Given the description of an element on the screen output the (x, y) to click on. 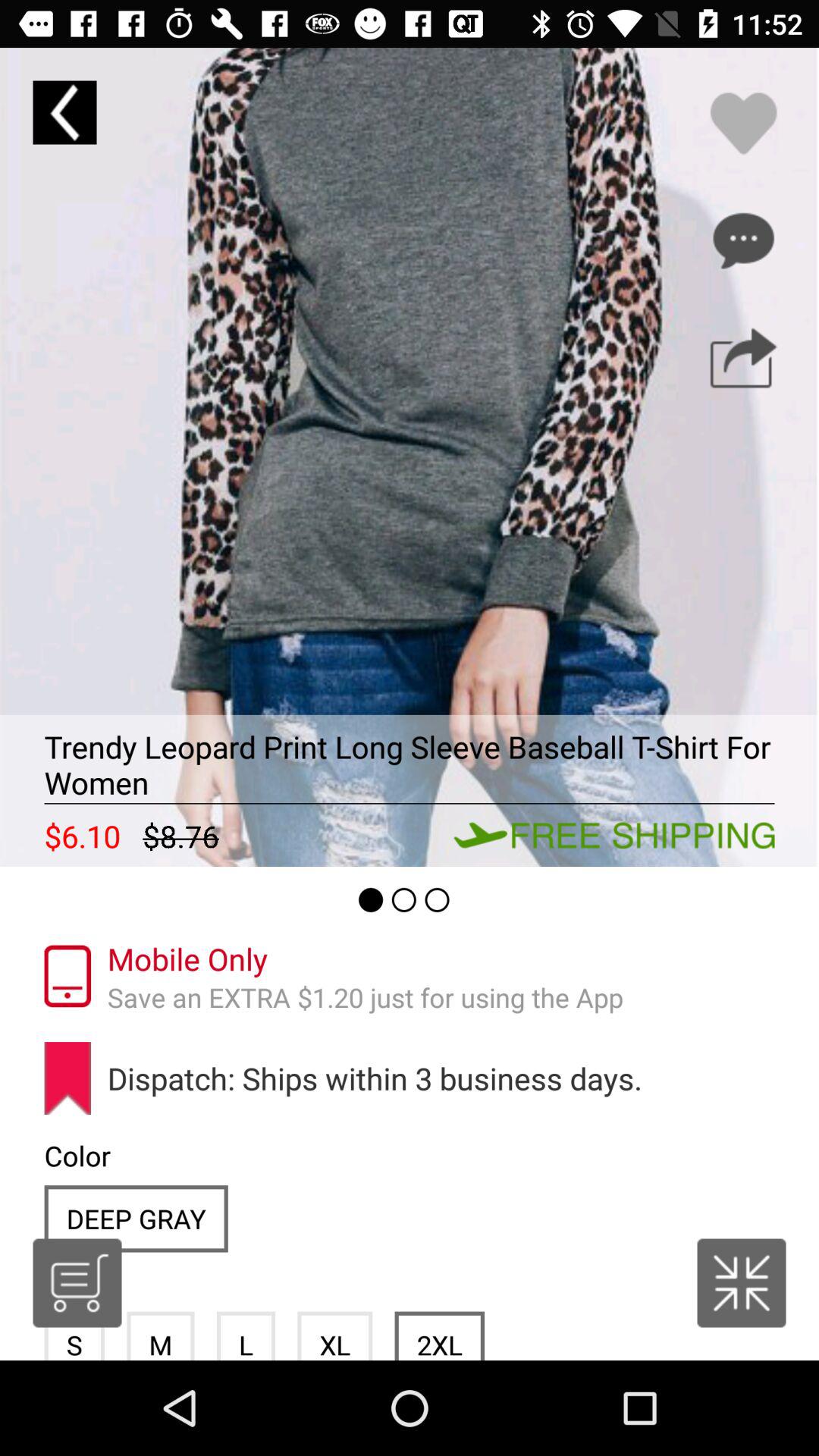
open photos of item (409, 456)
